Given the description of an element on the screen output the (x, y) to click on. 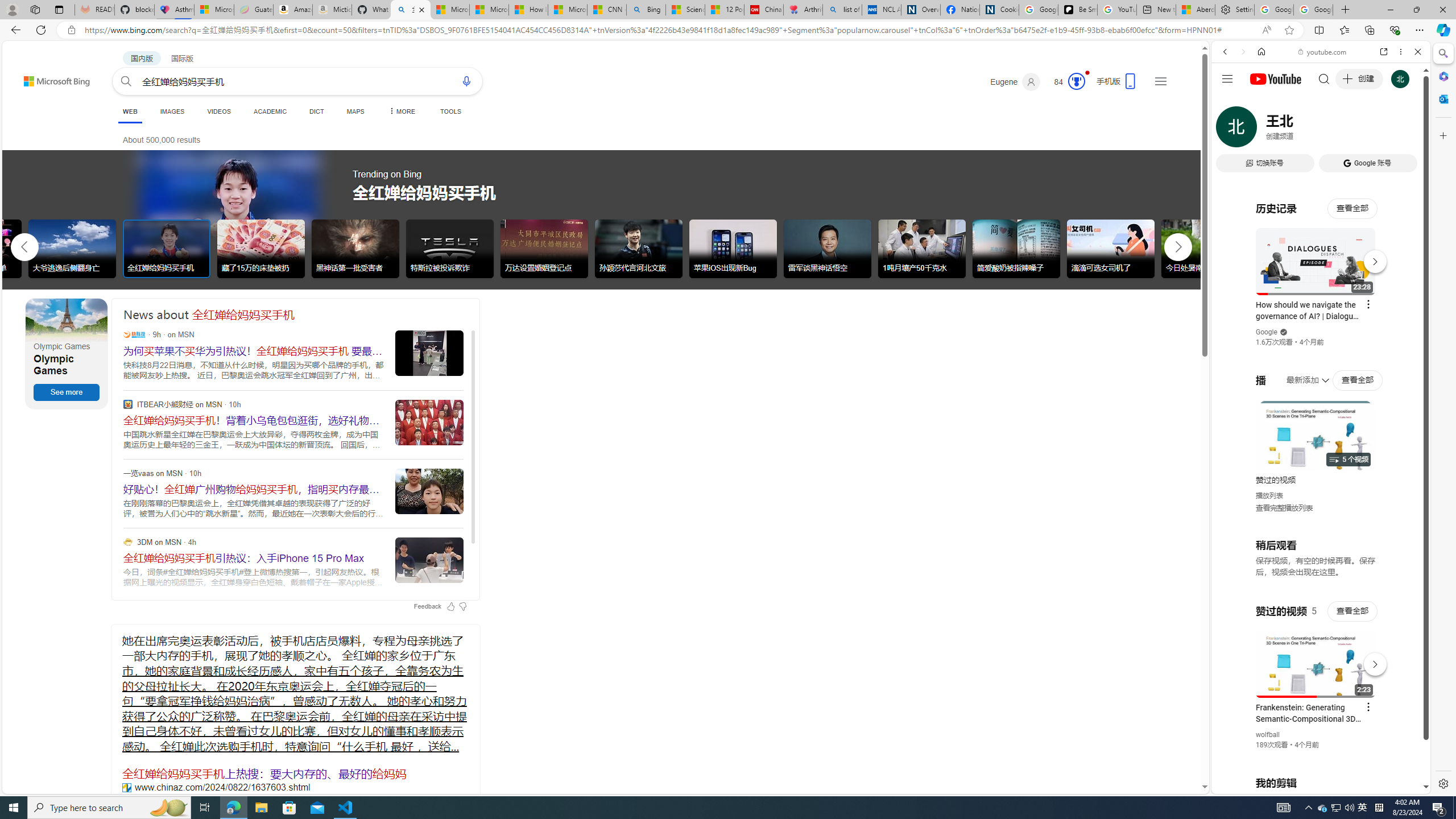
AutomationID: tob_right_arrow (1177, 246)
Search button (126, 80)
Trailer #2 [HD] (1320, 337)
12 Popular Science Lies that Must be Corrected (724, 9)
WEB   (1230, 130)
